Given the description of an element on the screen output the (x, y) to click on. 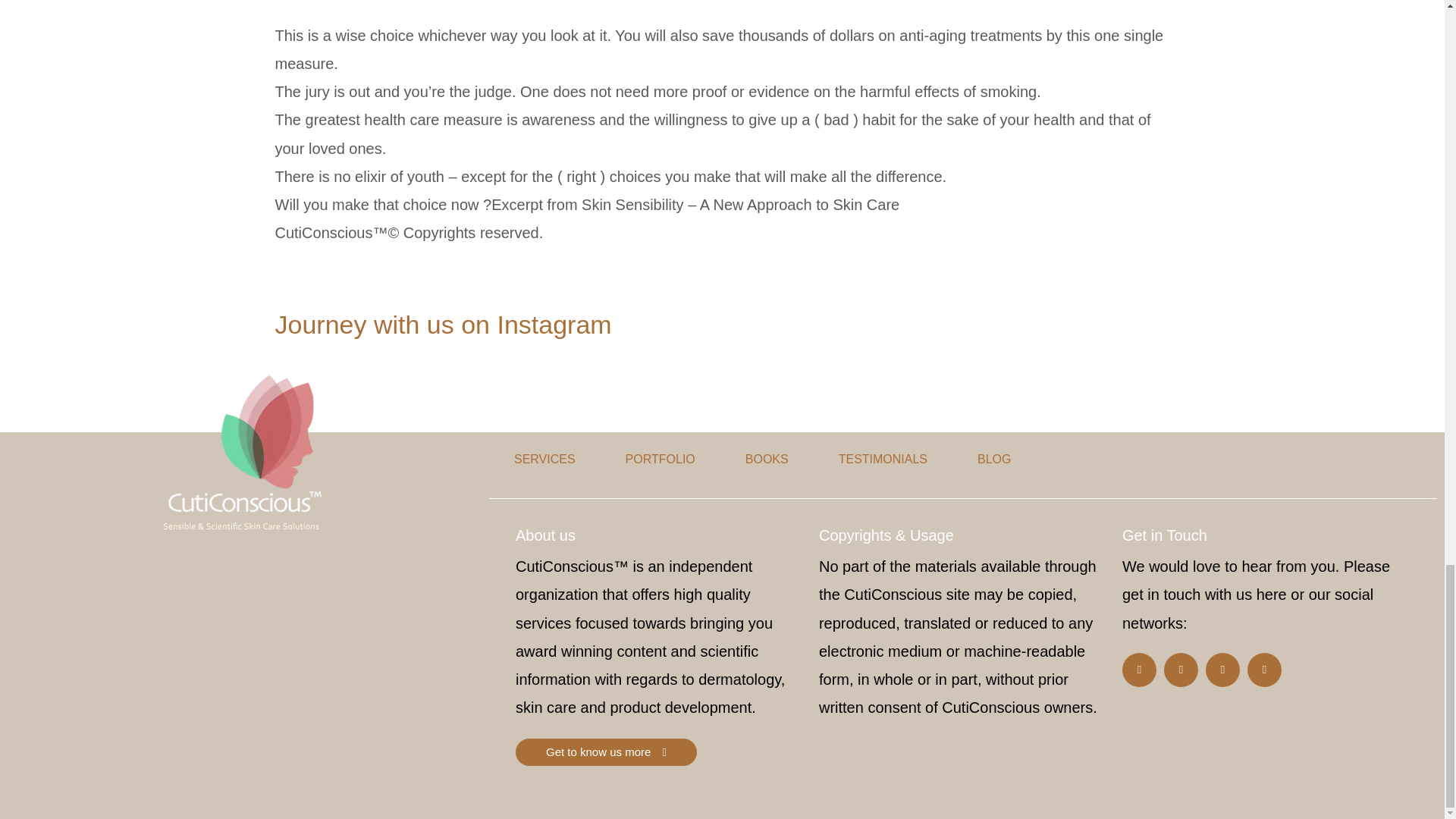
Journey with us on Instagram (443, 324)
SERVICES (544, 459)
BOOKS (766, 459)
TESTIMONIALS (882, 459)
Instagram (1180, 669)
Get to know us more (606, 751)
Facebook (1139, 669)
Youtube (1222, 669)
BLOG (993, 459)
PORTFOLIO (659, 459)
Linkedin (1264, 669)
